Given the description of an element on the screen output the (x, y) to click on. 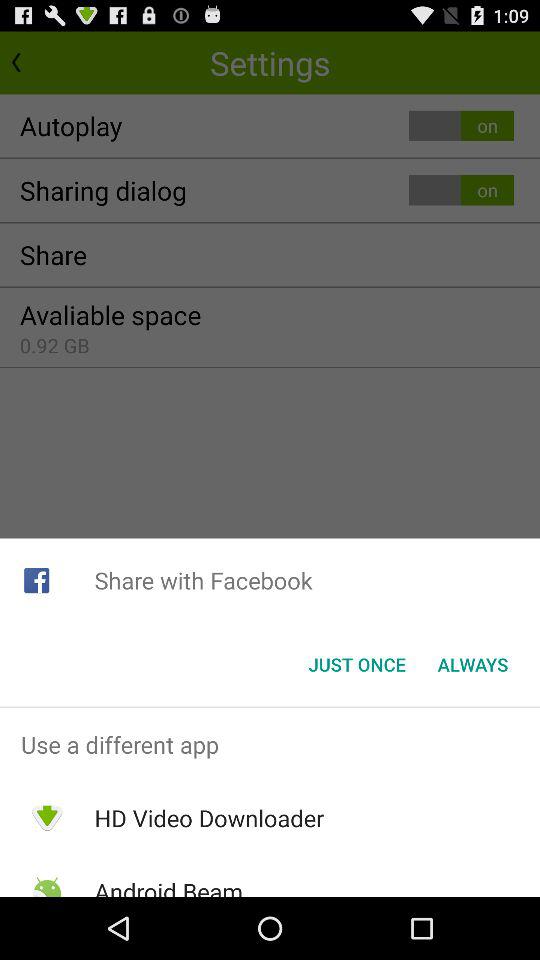
flip until the android beam (168, 885)
